Given the description of an element on the screen output the (x, y) to click on. 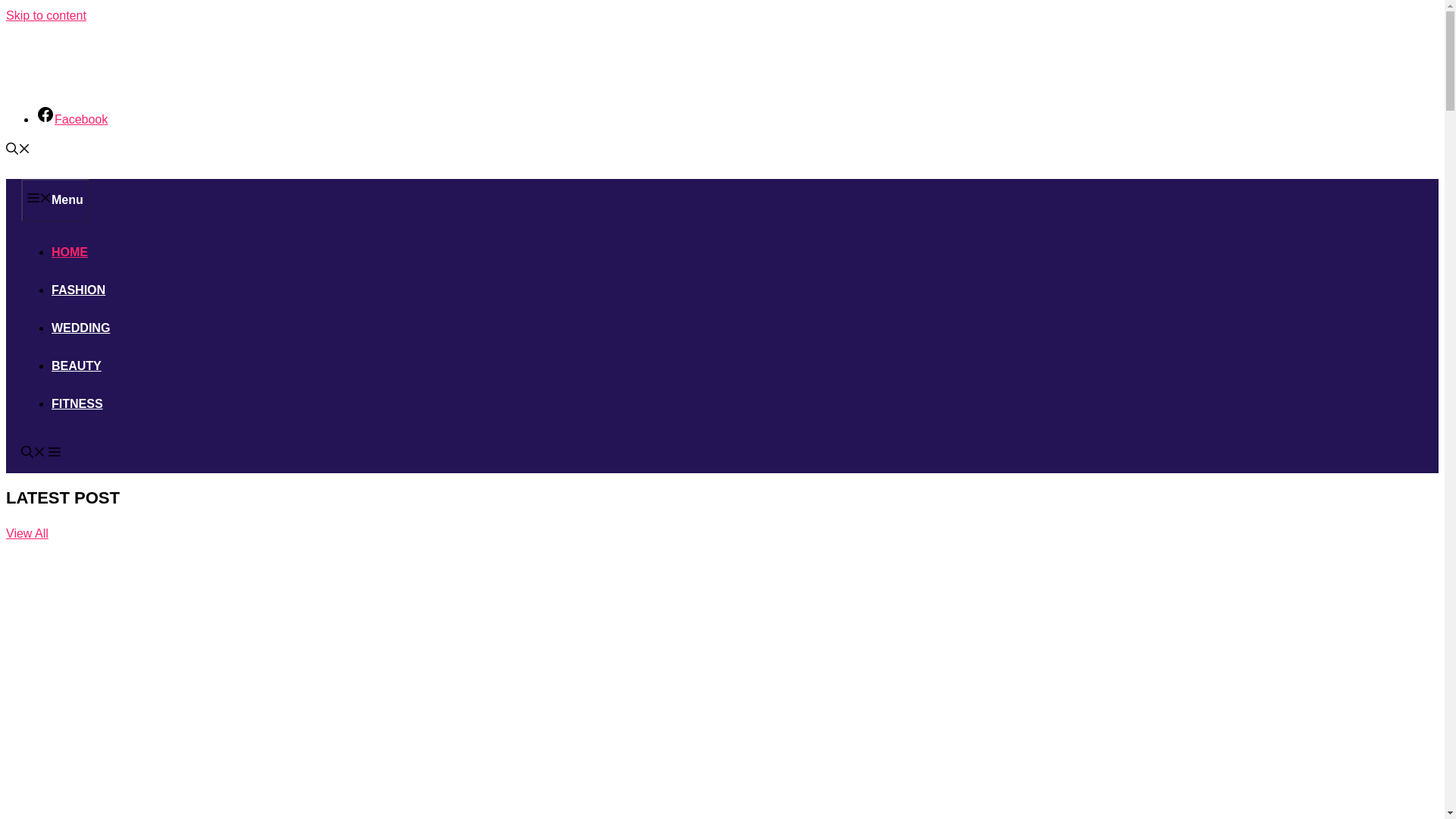
FASHION (77, 289)
HOME (68, 251)
Skip to content (45, 15)
Menu (54, 200)
Facebook (71, 119)
View All (26, 532)
Skip to content (45, 15)
WEDDING (80, 327)
FITNESS (76, 403)
BEAUTY (75, 365)
